Given the description of an element on the screen output the (x, y) to click on. 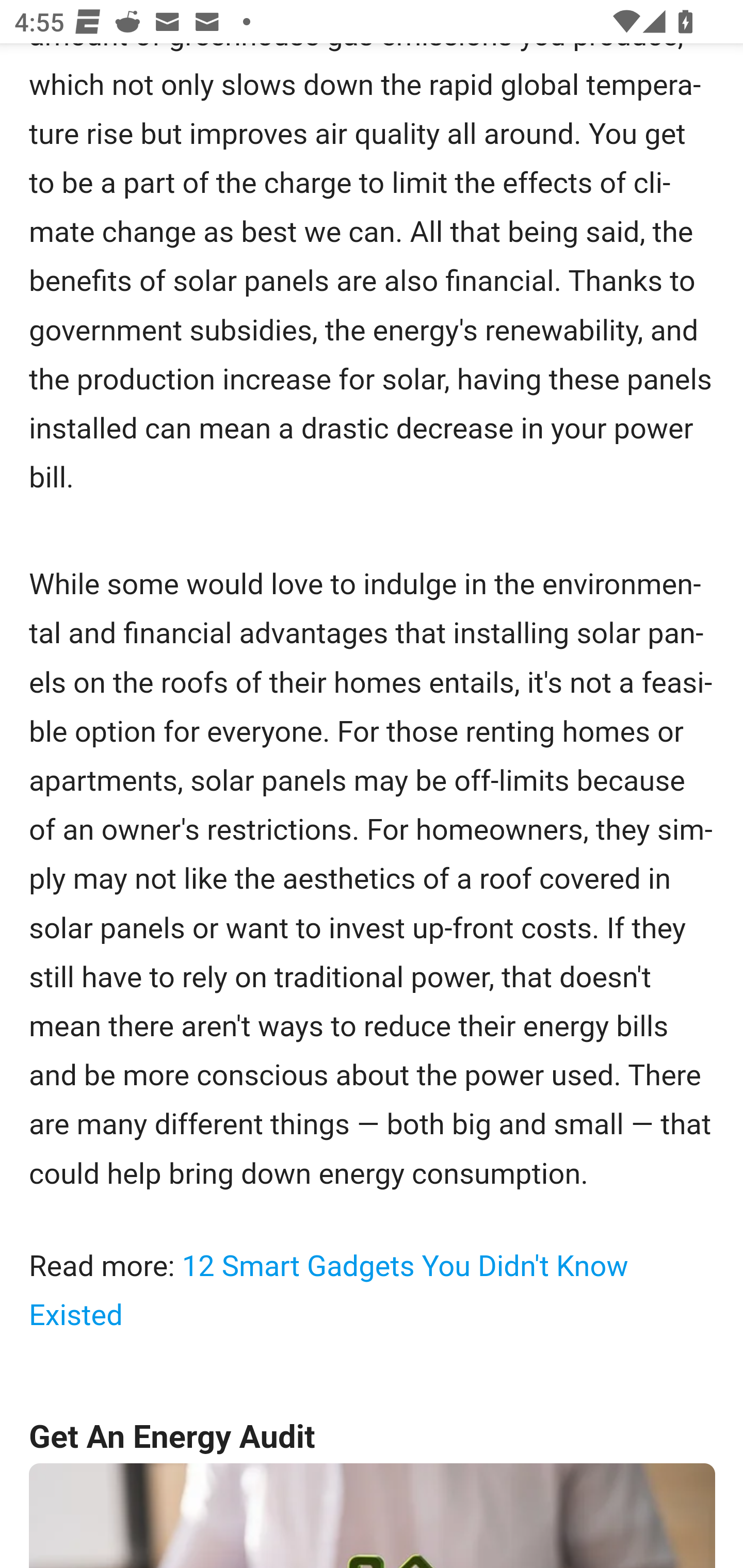
12 Smart Gadgets You Didn't Know Existed (329, 1291)
